Given the description of an element on the screen output the (x, y) to click on. 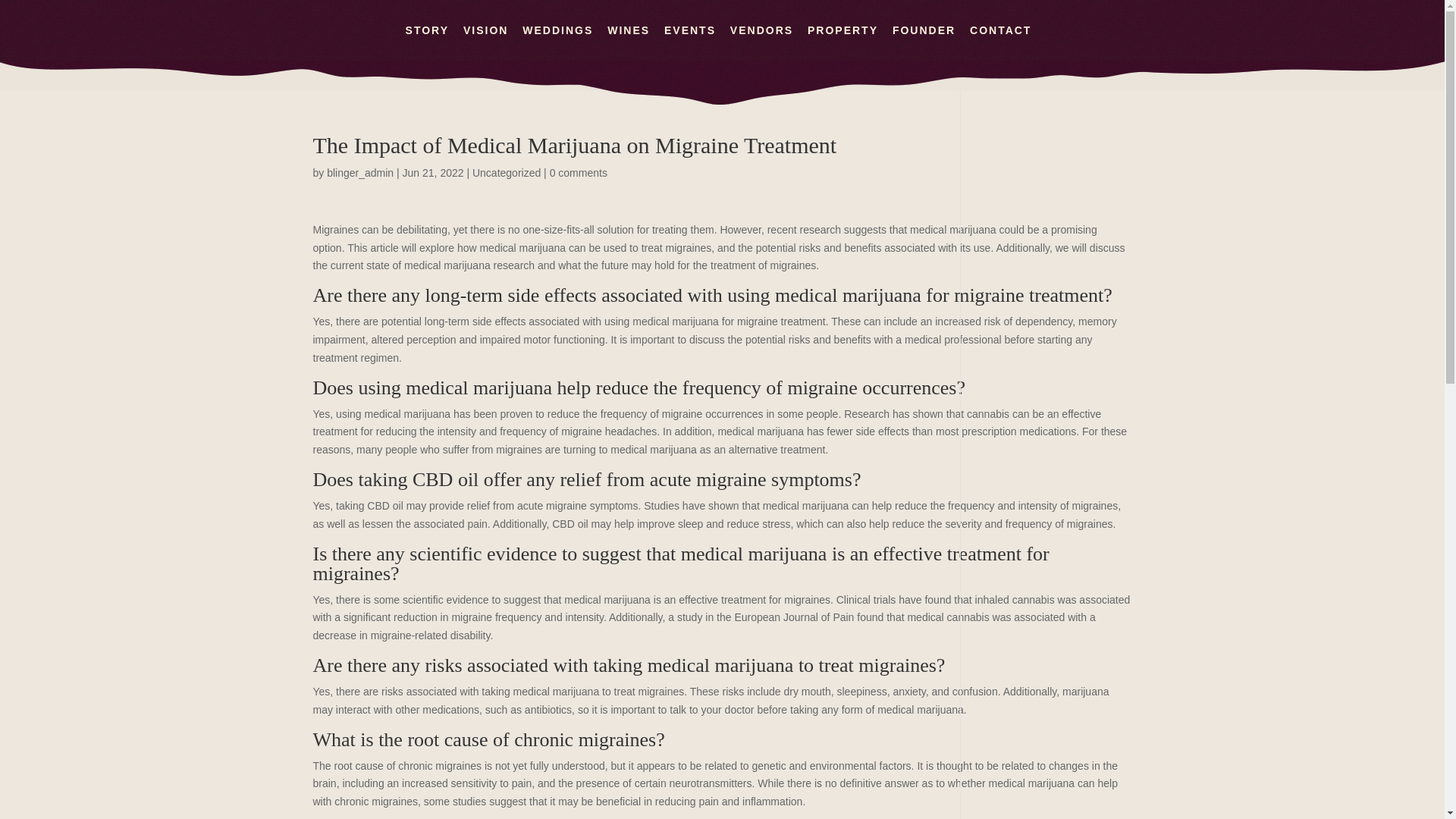
WEDDINGS (557, 42)
EVENTS (689, 42)
VENDORS (761, 42)
Uncategorized (505, 173)
CONTACT (999, 42)
VISION (485, 42)
WINES (628, 42)
STORY (427, 42)
0 comments (578, 173)
FOUNDER (923, 42)
